Given the description of an element on the screen output the (x, y) to click on. 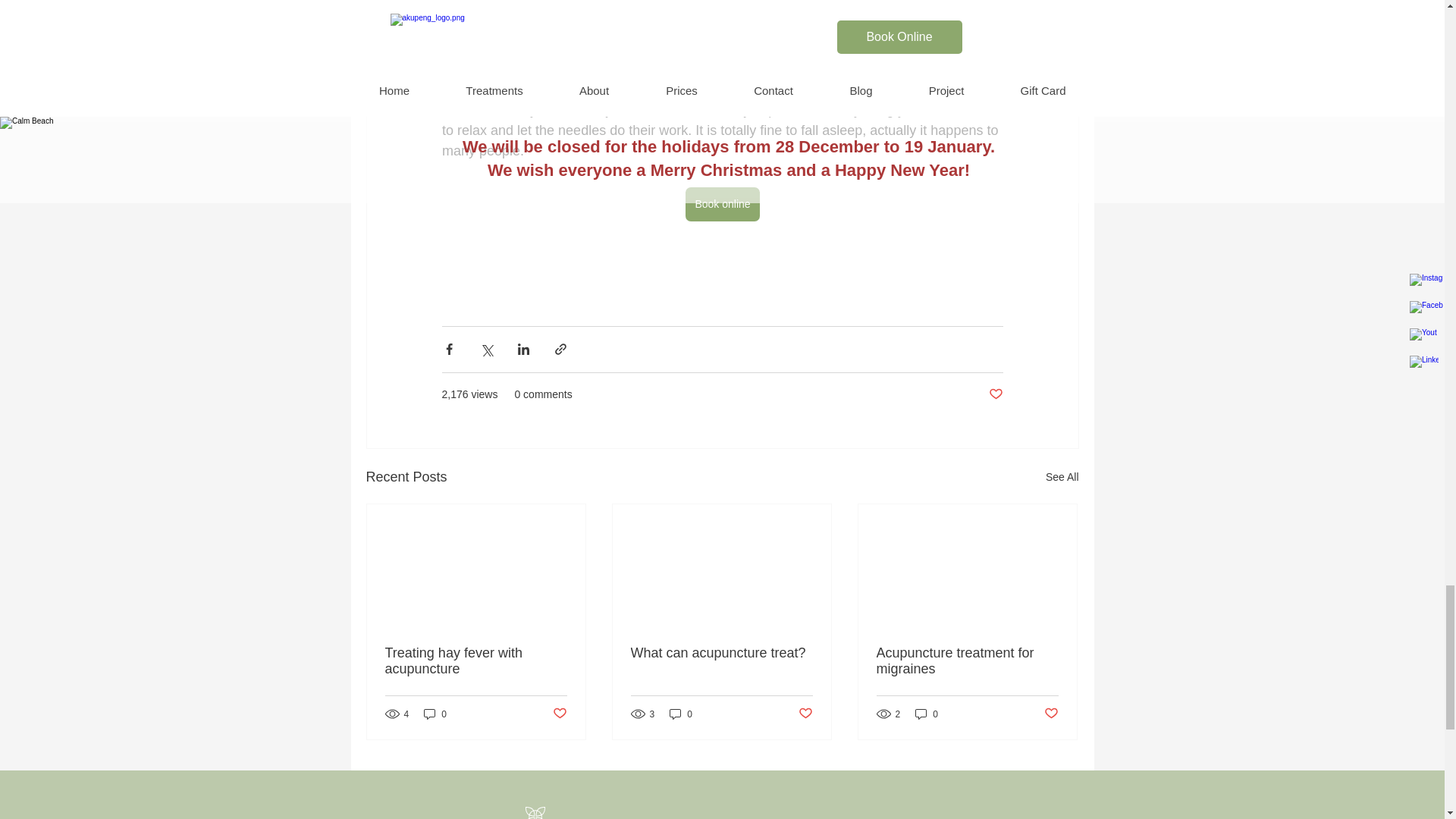
Treating hay fever with acupuncture (476, 661)
0 (435, 713)
Post not marked as liked (558, 713)
Book online (721, 204)
Tuina massage (743, 48)
Post not marked as liked (995, 394)
See All (1061, 477)
